Given the description of an element on the screen output the (x, y) to click on. 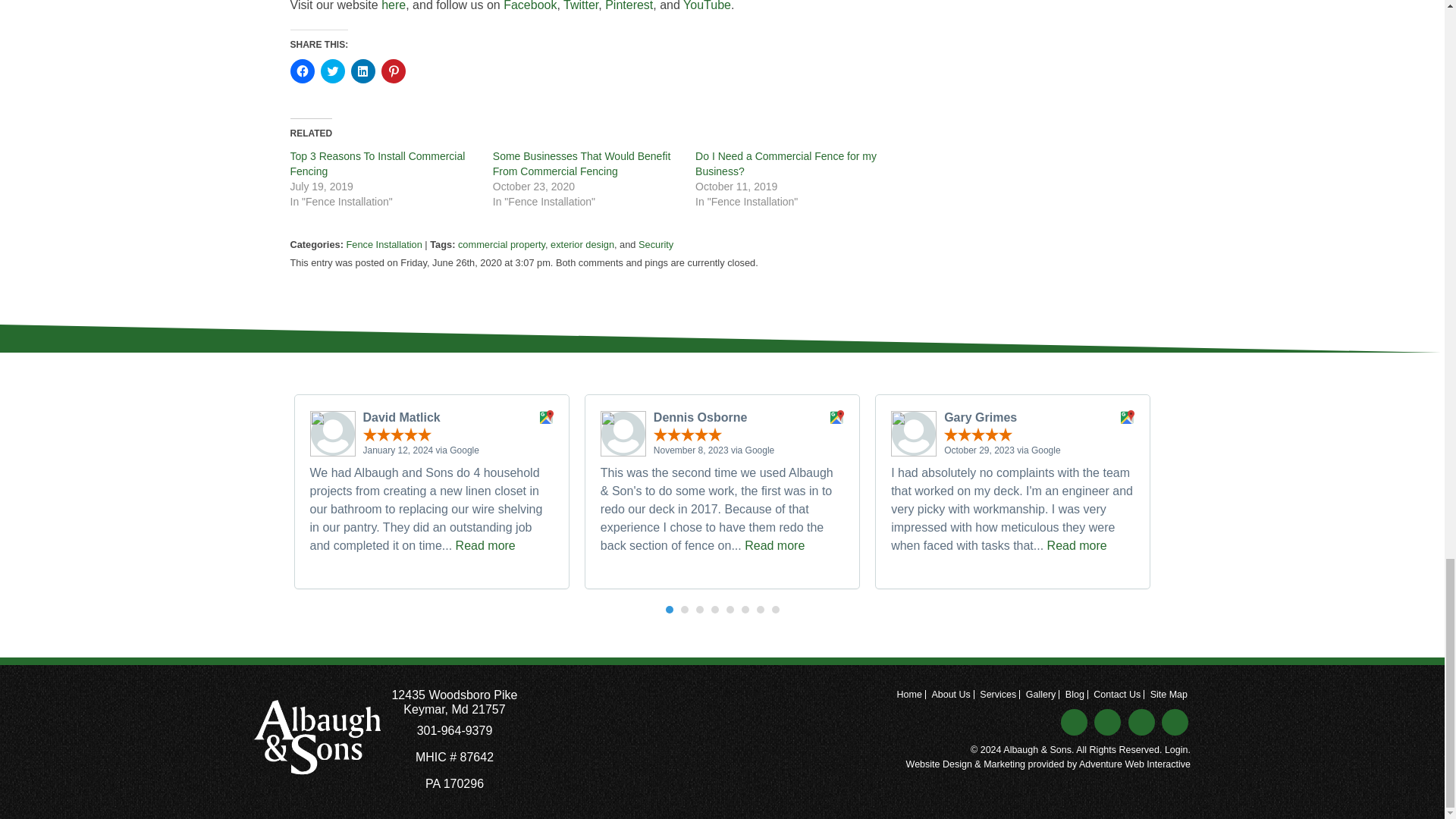
Do I Need a Commercial Fence for my Business? (785, 163)
Click to share on LinkedIn (362, 70)
Top 3 Reasons To Install Commercial Fencing (376, 163)
Some Businesses That Would Benefit From Commercial Fencing (582, 163)
Click to share on Facebook (301, 70)
Click to share on Pinterest (392, 70)
Click to share on Twitter (331, 70)
